Given the description of an element on the screen output the (x, y) to click on. 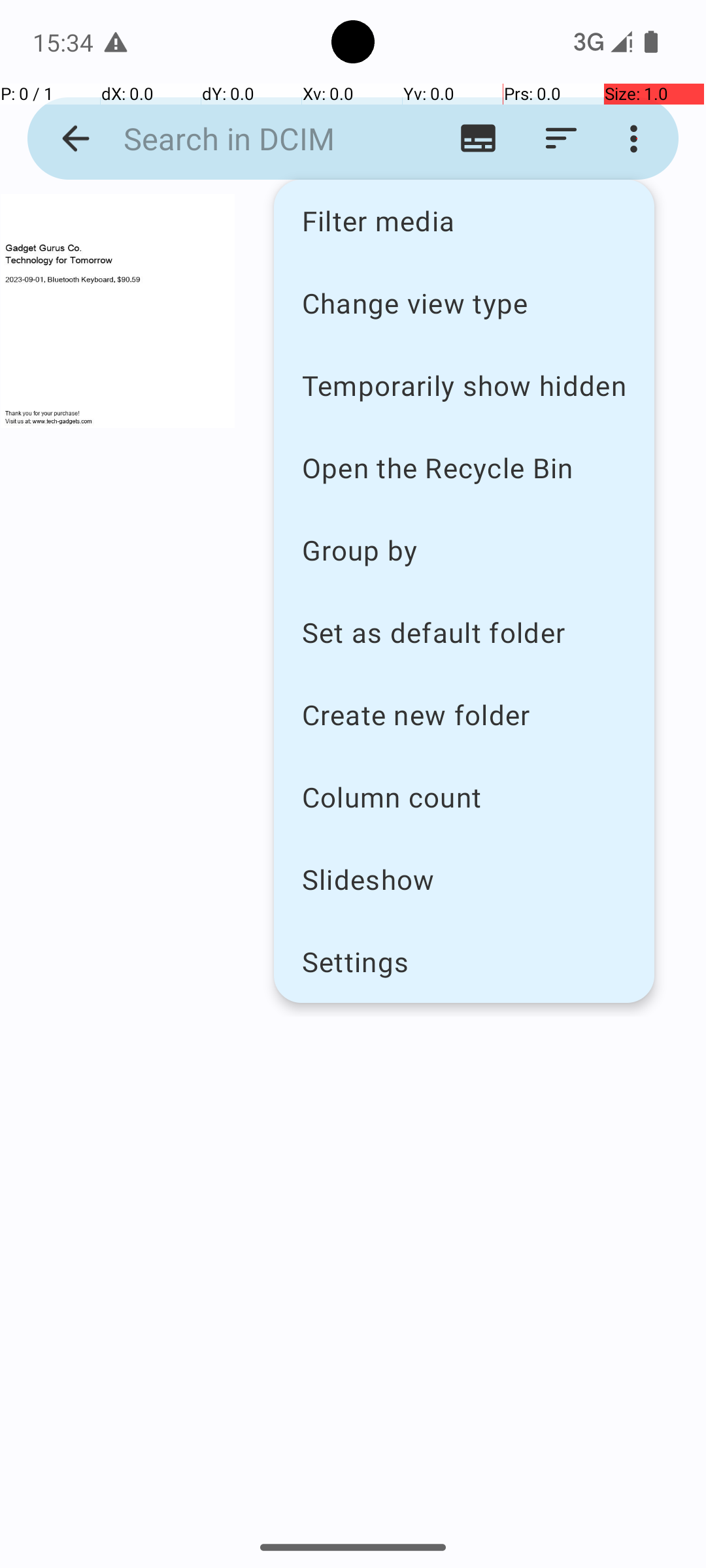
Filter media Element type: android.widget.TextView (463, 220)
Change view type Element type: android.widget.TextView (463, 302)
Temporarily show hidden Element type: android.widget.TextView (463, 384)
Open the Recycle Bin Element type: android.widget.TextView (463, 467)
Group by Element type: android.widget.TextView (463, 549)
Set as default folder Element type: android.widget.TextView (463, 631)
Create new folder Element type: android.widget.TextView (463, 714)
Column count Element type: android.widget.TextView (463, 796)
Slideshow Element type: android.widget.TextView (463, 878)
